Given the description of an element on the screen output the (x, y) to click on. 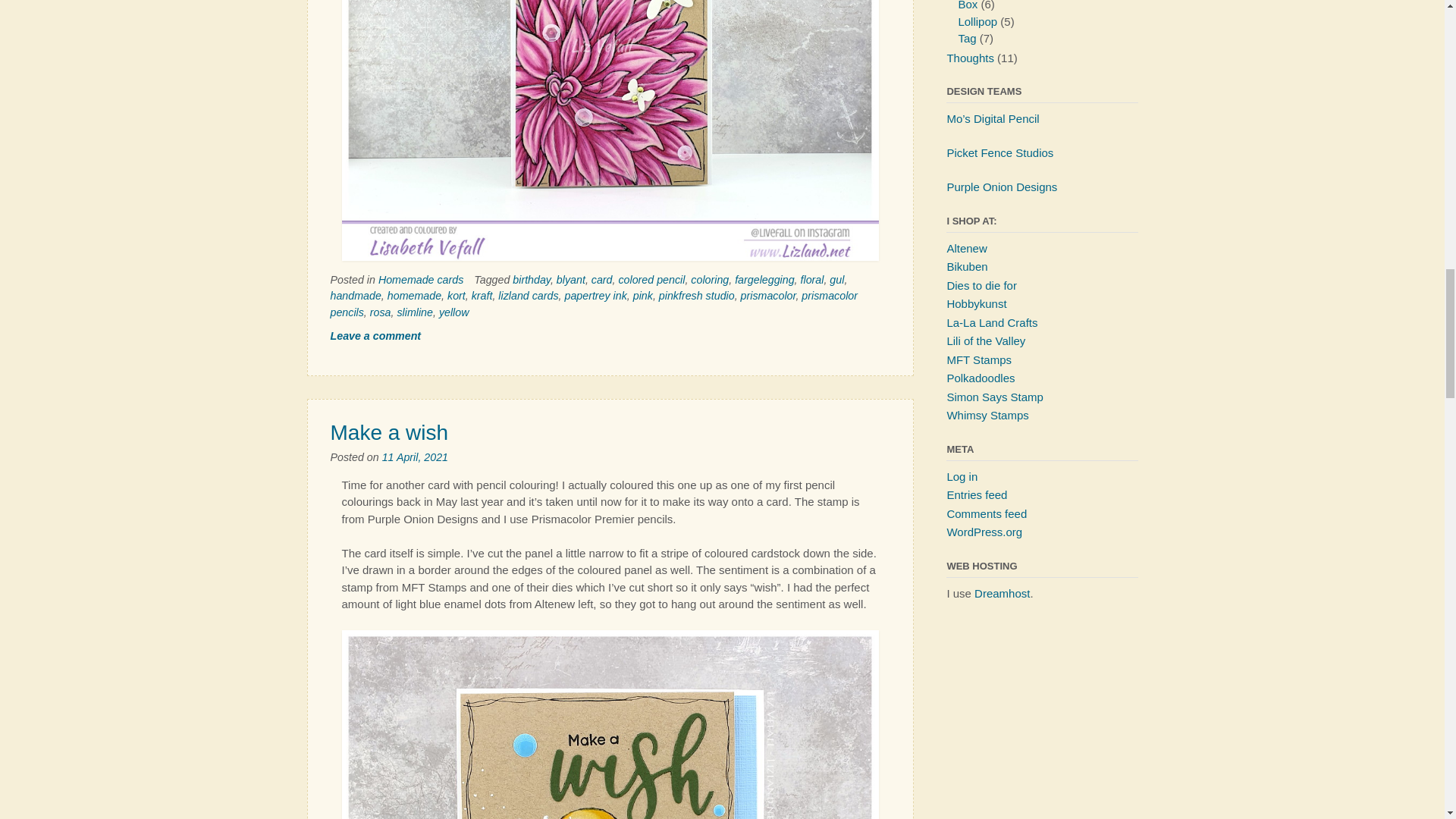
Norwegian shop with a wide range of products (966, 266)
English shop with a wide range of gorgeous stamps (985, 340)
